Given the description of an element on the screen output the (x, y) to click on. 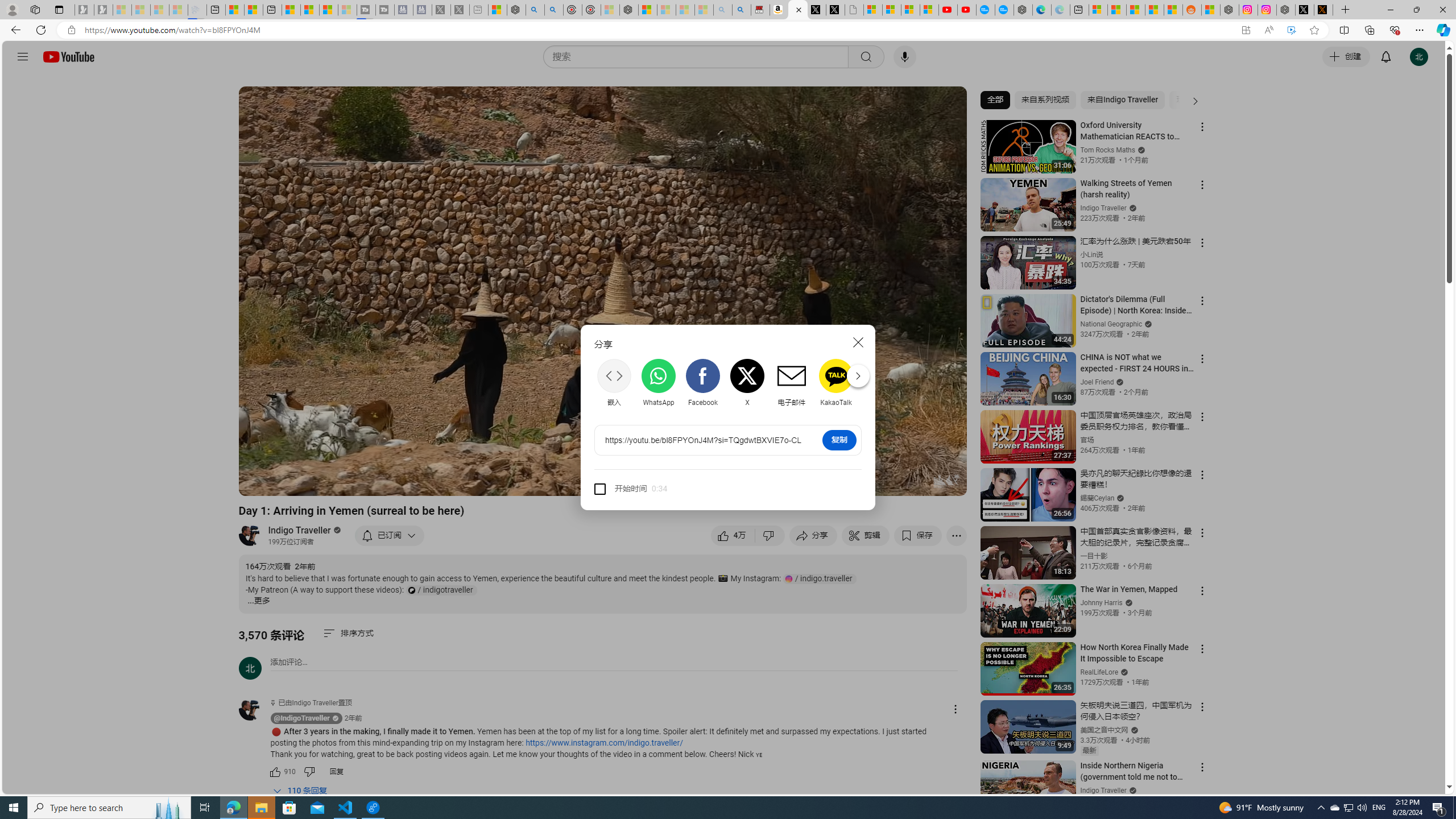
WhatsApp (658, 382)
